Given the description of an element on the screen output the (x, y) to click on. 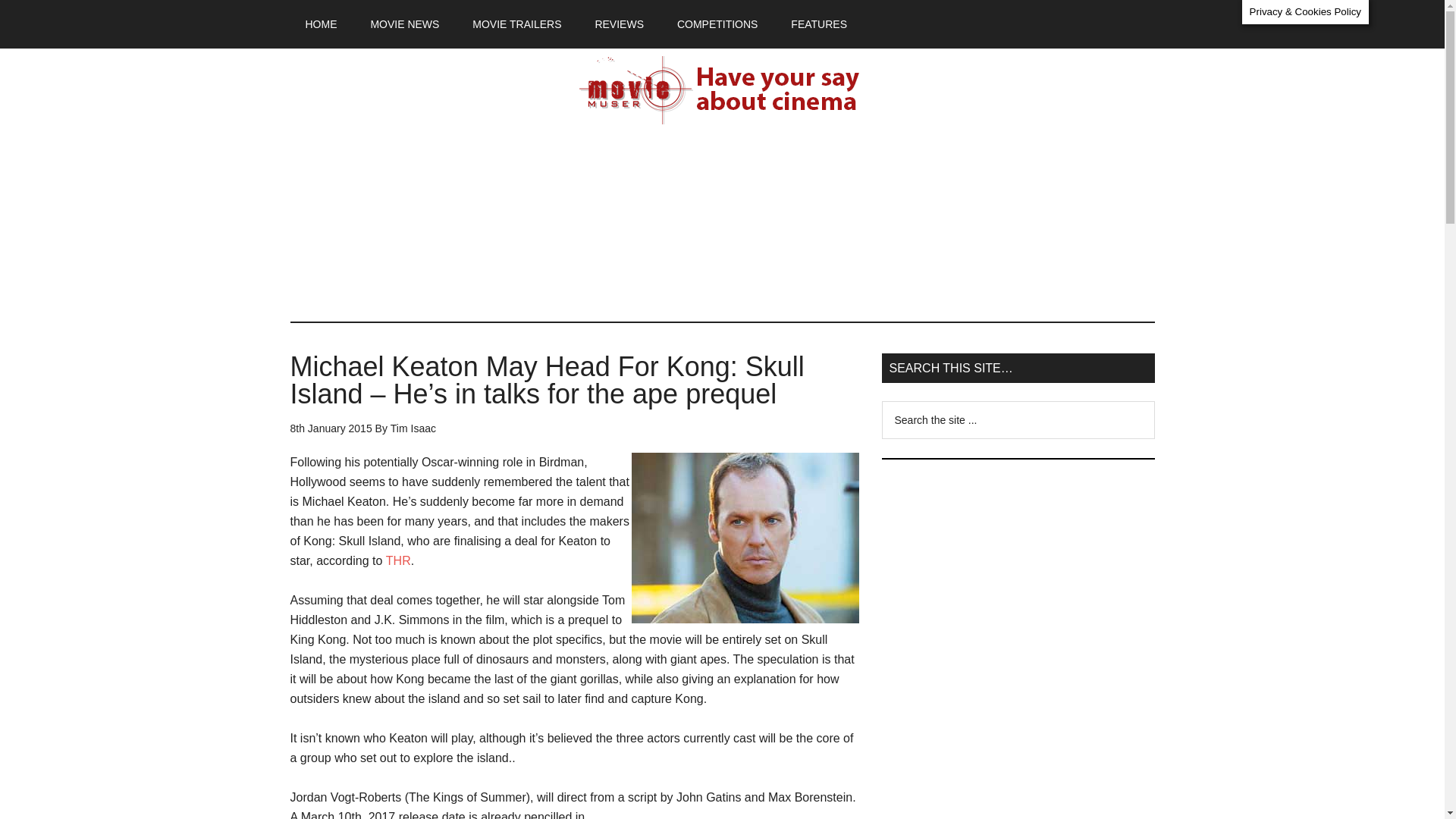
HOME (320, 24)
REVIEWS (619, 24)
MOVIE TRAILERS (516, 24)
FEATURES (818, 24)
Movie Muser (721, 90)
MOVIE NEWS (404, 24)
THR (397, 560)
Tim Isaac (412, 428)
3rd party ad content (1017, 573)
3rd party ad content (1017, 747)
COMPETITIONS (717, 24)
